Given the description of an element on the screen output the (x, y) to click on. 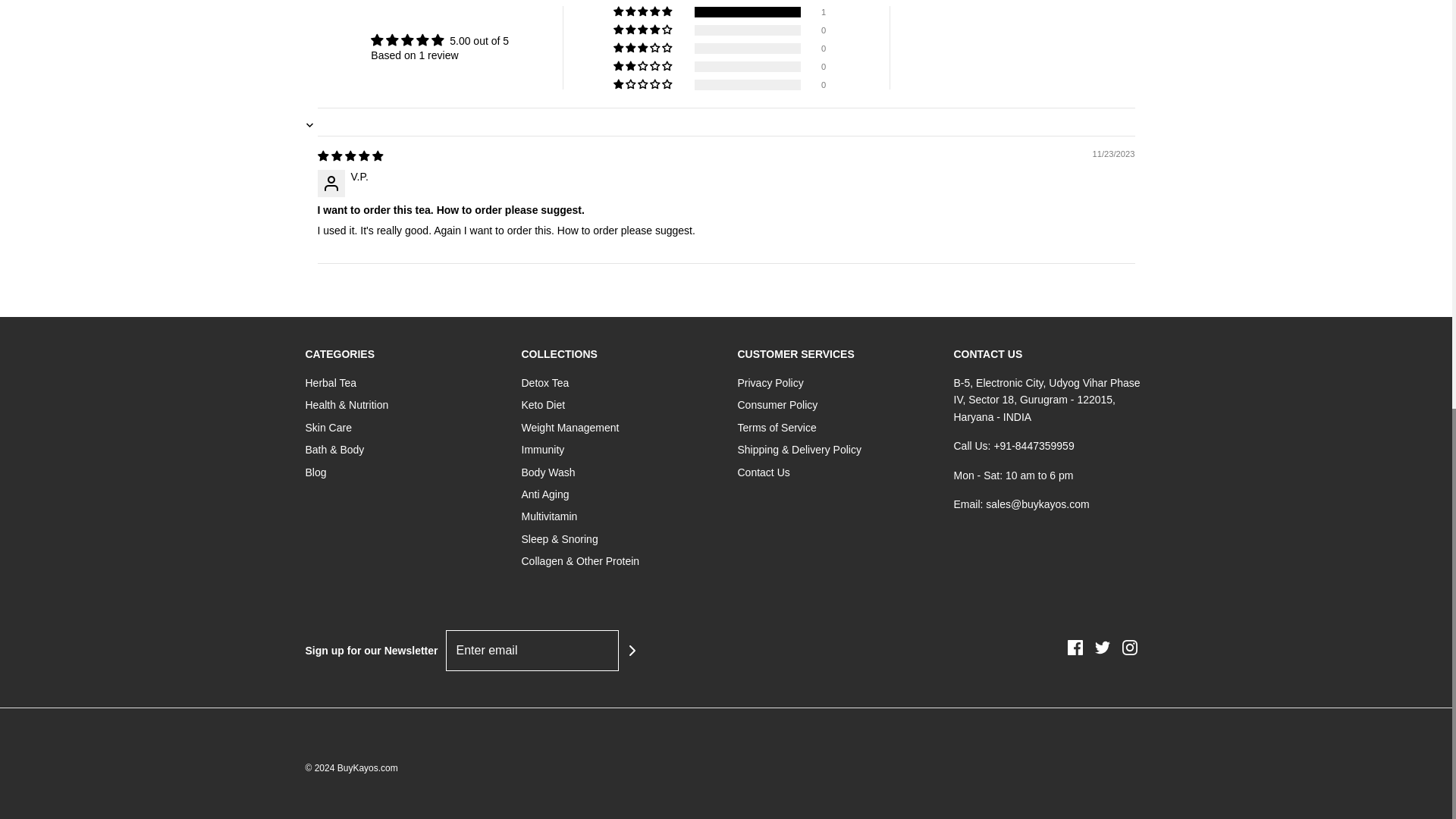
Twitter icon (1101, 647)
Instagram icon (1129, 647)
Facebook icon (1075, 647)
